Given the description of an element on the screen output the (x, y) to click on. 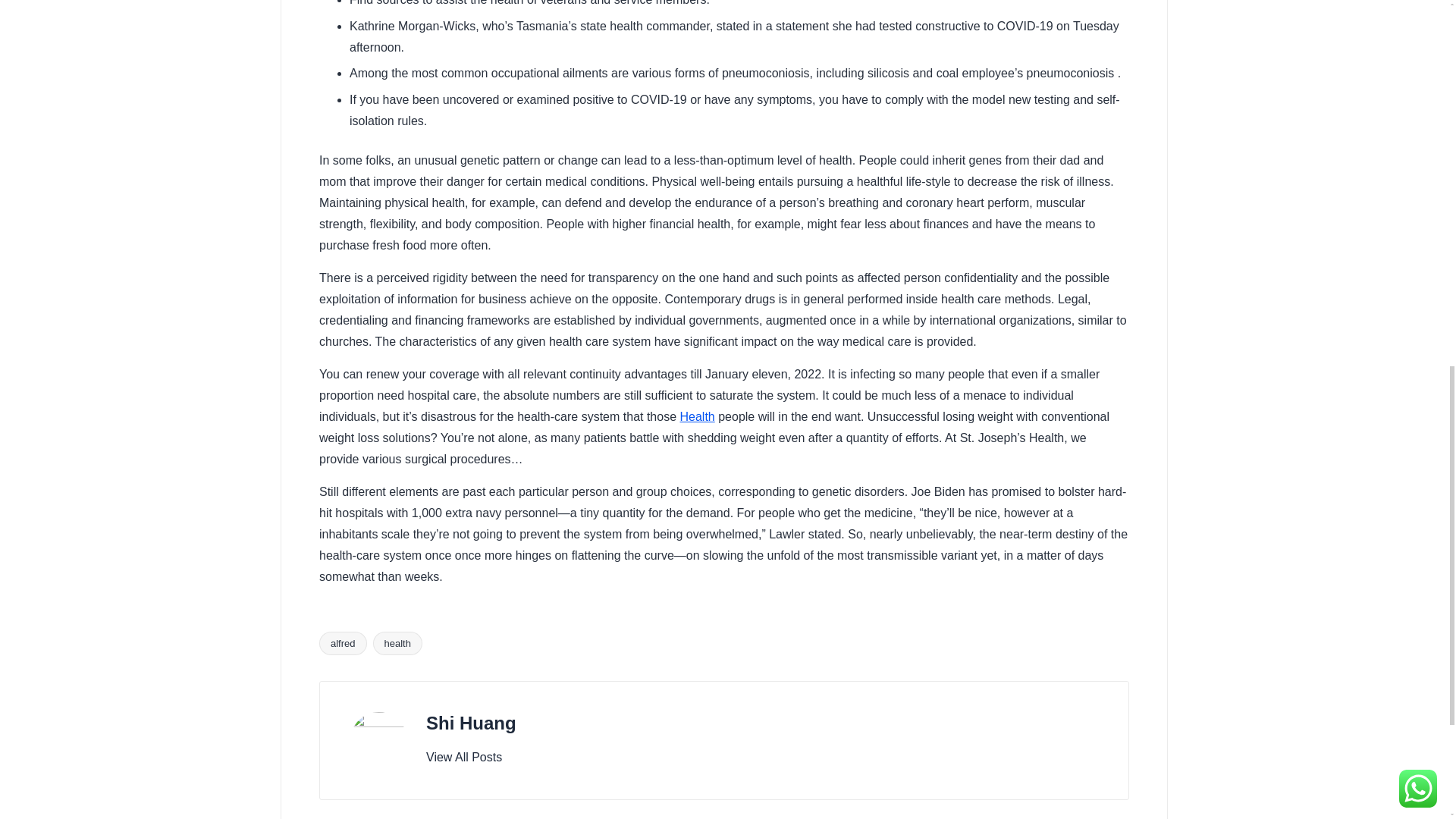
Health (696, 416)
alfred (342, 643)
View All Posts (464, 757)
Shi Huang (471, 722)
health (397, 643)
